Given the description of an element on the screen output the (x, y) to click on. 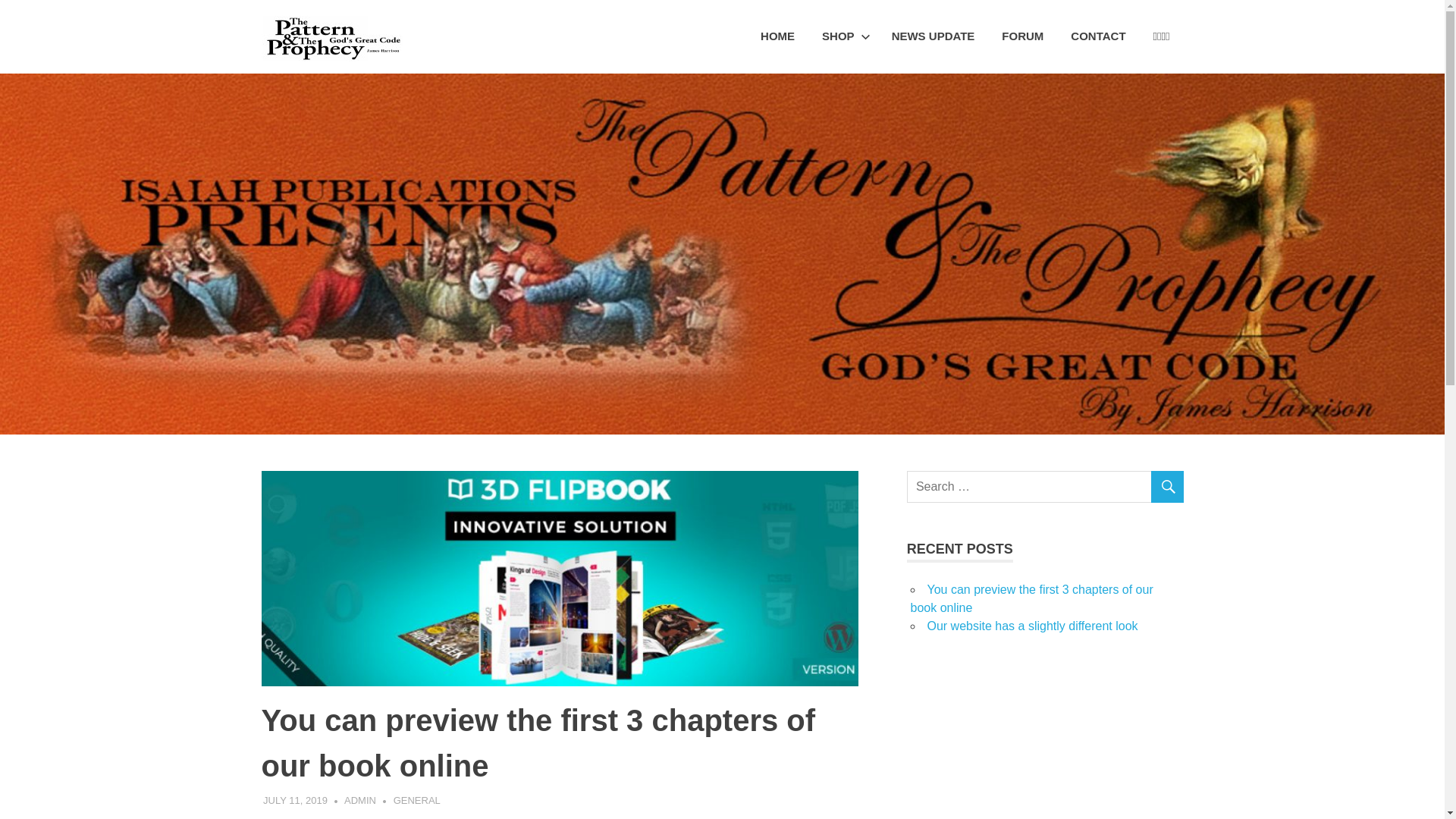
JULY 11, 2019 Element type: text (295, 800)
Our website has a slightly different look Element type: text (1031, 625)
GENERAL Element type: text (416, 800)
FORUM Element type: text (1022, 36)
You can preview the first 3 chapters of our book online Element type: text (1031, 598)
HOME Element type: text (777, 36)
ADMIN Element type: text (360, 800)
CONTACT Element type: text (1098, 36)
SHOP Element type: text (843, 36)
Search for: Element type: hover (1044, 486)
NEWS UPDATE Element type: text (933, 36)
